Given the description of an element on the screen output the (x, y) to click on. 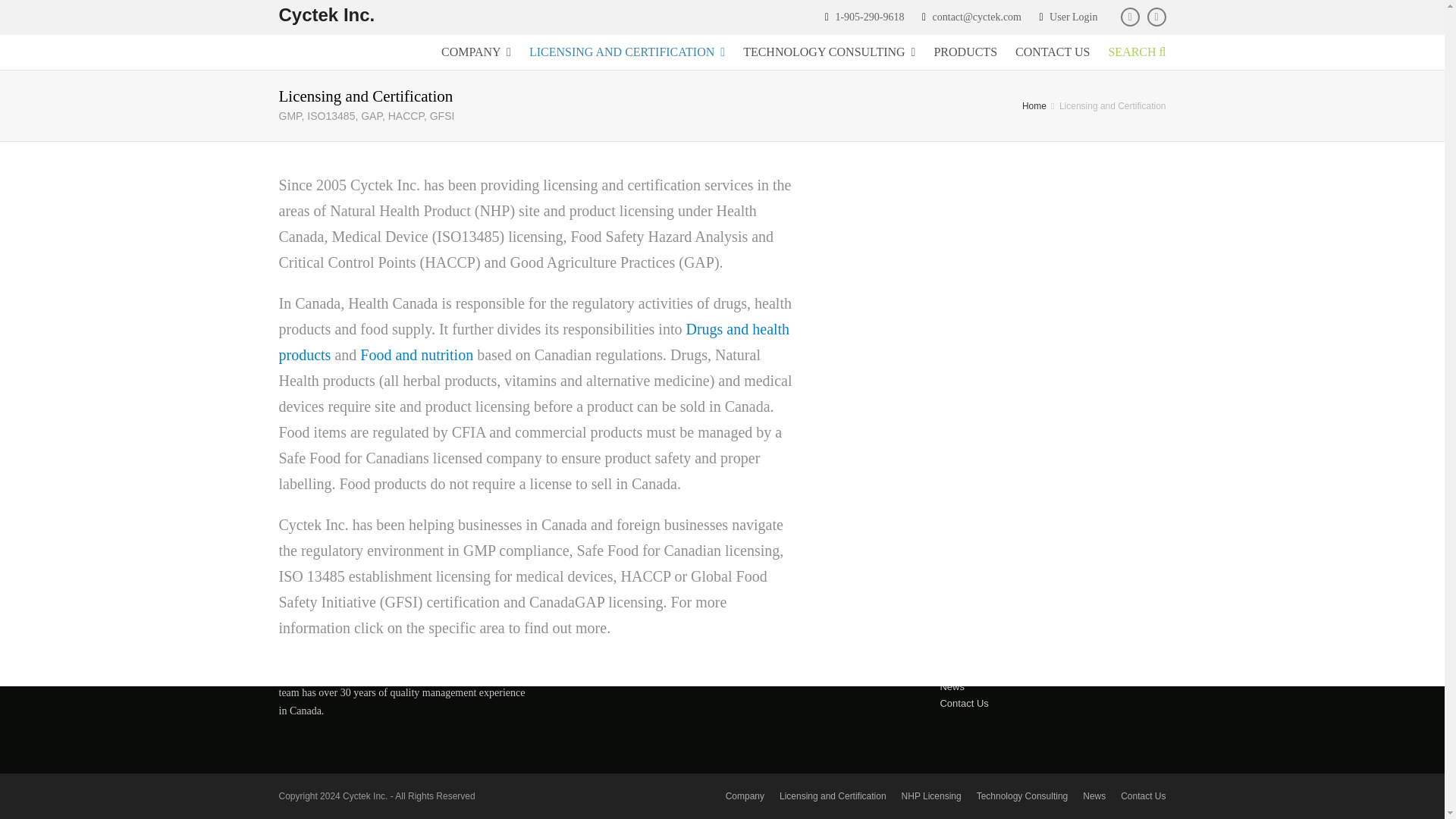
Home (1034, 105)
Cyctek Inc. (327, 15)
search (744, 624)
TECHNOLOGY CONSULTING (828, 52)
Company (960, 619)
Cyctek Inc. (327, 15)
NHP Licensing (971, 653)
Technology Consulting (989, 669)
CONTACT US (1052, 52)
Drugs and health products (534, 342)
SEARCH (1132, 52)
User Login (1073, 16)
Get In Touch (1063, 472)
Cyctek Inc. (1034, 105)
search (744, 624)
